Given the description of an element on the screen output the (x, y) to click on. 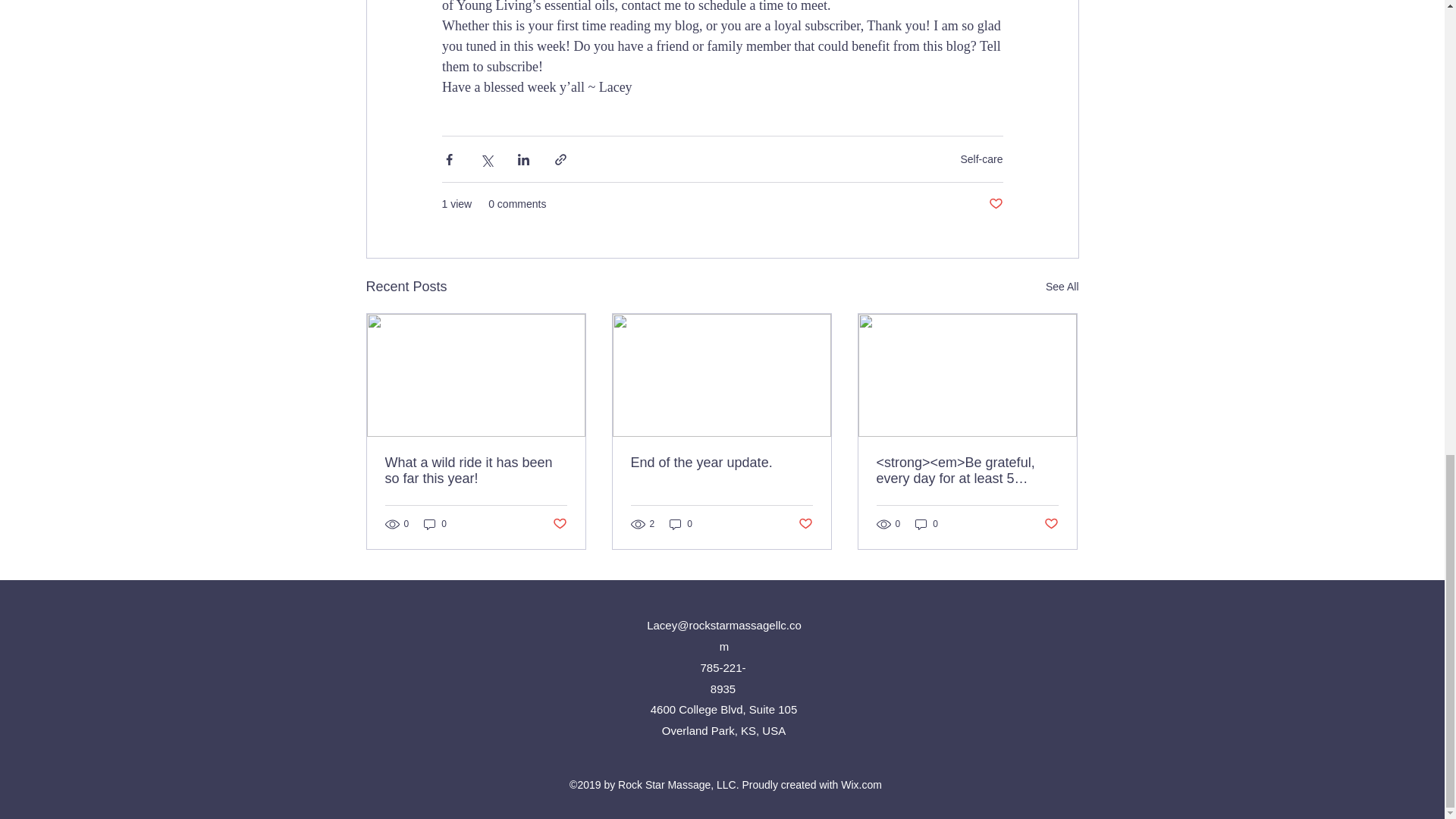
End of the year update. (721, 462)
See All (1061, 287)
Post not marked as liked (558, 524)
0 (435, 523)
0 (681, 523)
What a wild ride it has been so far this year! (476, 470)
Post not marked as liked (804, 524)
Self-care (981, 159)
Post not marked as liked (995, 204)
